Given the description of an element on the screen output the (x, y) to click on. 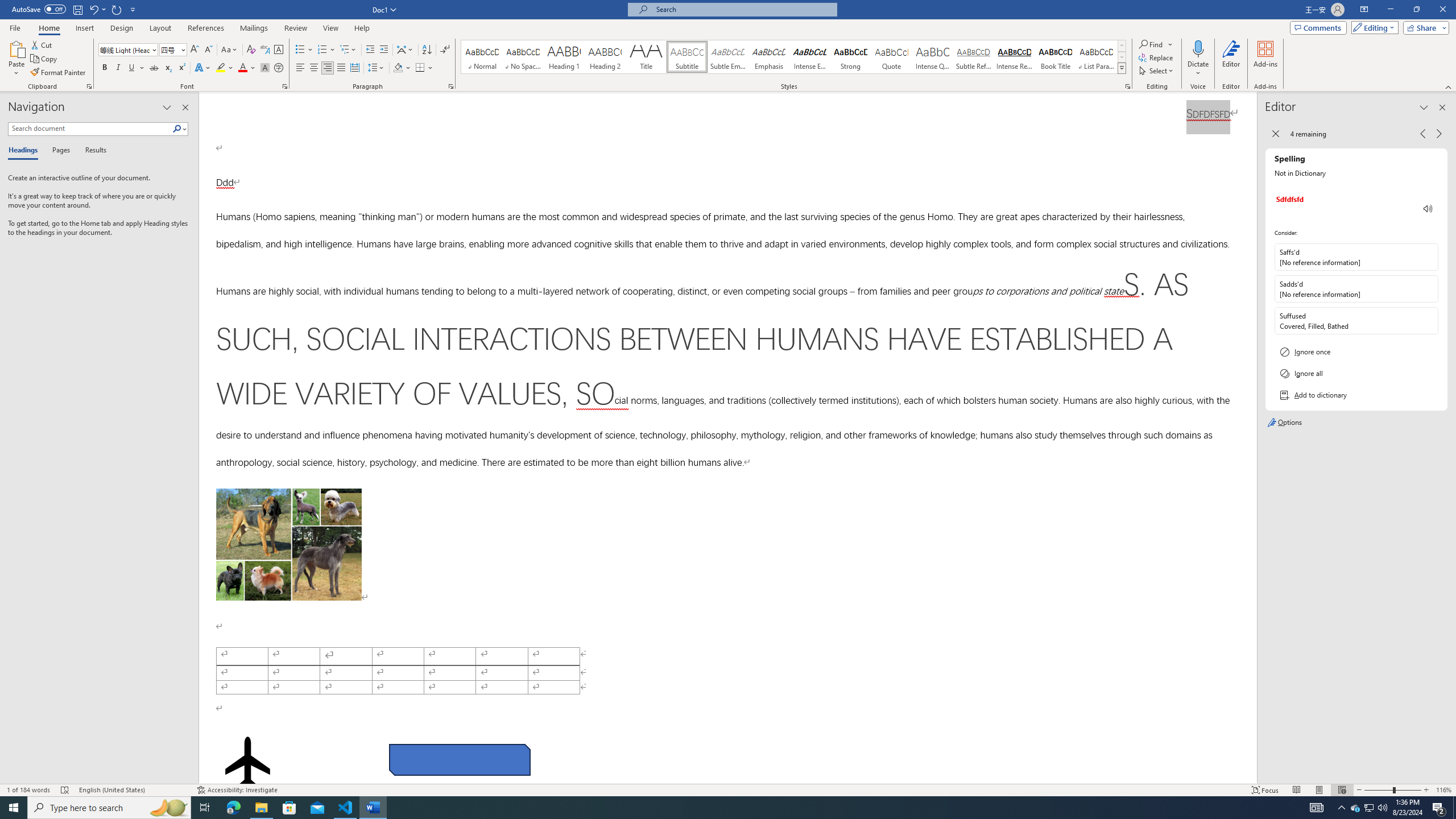
Zoom Out (1378, 790)
Undo Paragraph Alignment (92, 9)
Select (1157, 69)
Review (295, 28)
Styles (1121, 67)
Align Left (300, 67)
